Given the description of an element on the screen output the (x, y) to click on. 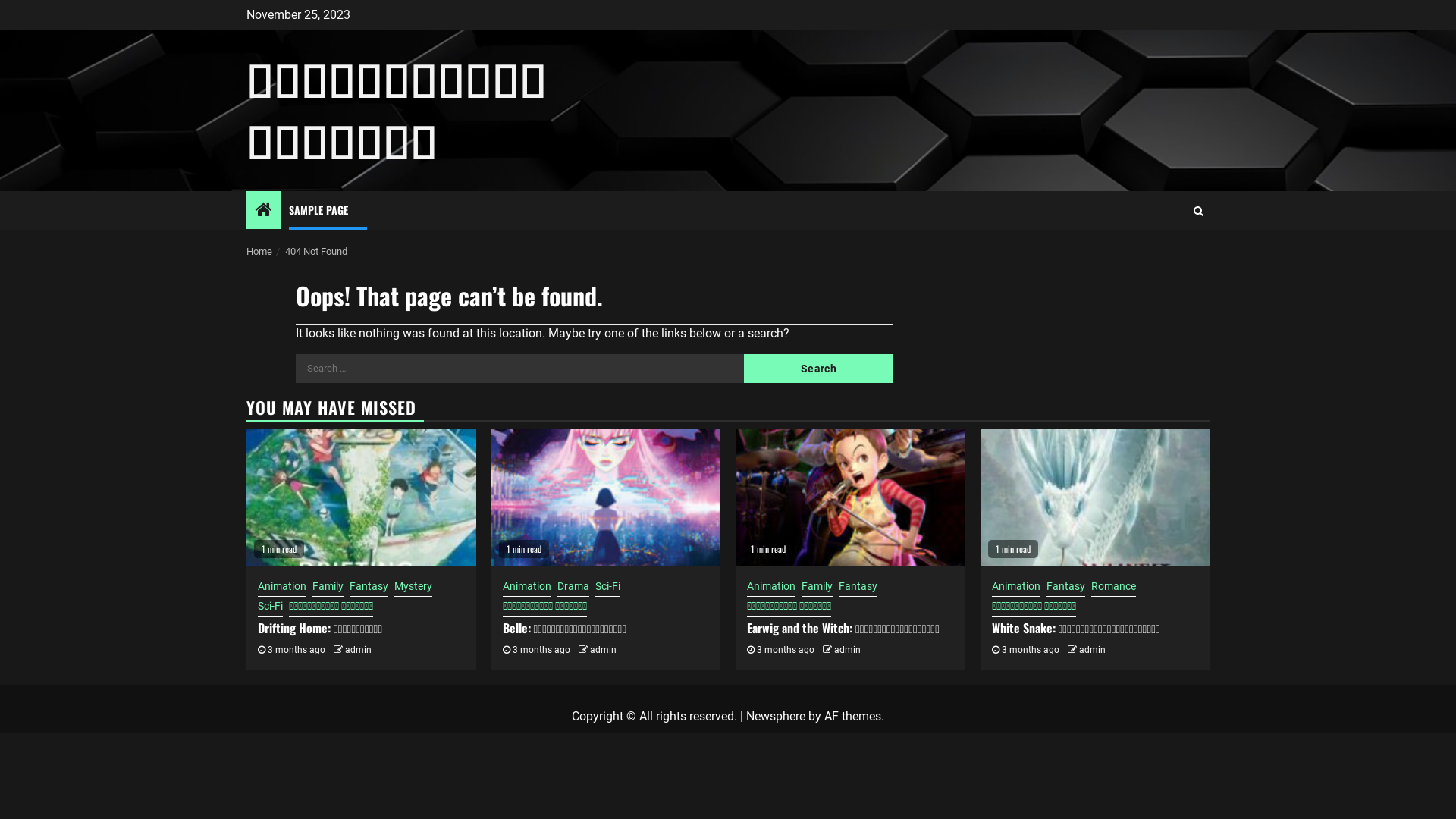
Fantasy Element type: text (368, 587)
Home Element type: text (259, 251)
Animation Element type: text (281, 587)
Search Element type: text (818, 368)
Animation Element type: text (526, 587)
Search Element type: hover (1198, 209)
Sci-Fi Element type: text (606, 587)
Drama Element type: text (572, 587)
SAMPLE PAGE Element type: text (318, 209)
Newsphere Element type: text (775, 716)
Family Element type: text (816, 587)
admin Element type: text (847, 649)
Sci-Fi Element type: text (269, 607)
Search Element type: text (1169, 255)
404 Not Found Element type: text (316, 251)
Romance Element type: text (1112, 587)
Mystery Element type: text (413, 587)
admin Element type: text (358, 649)
admin Element type: text (1091, 649)
admin Element type: text (602, 649)
Animation Element type: text (1015, 587)
Family Element type: text (327, 587)
Fantasy Element type: text (857, 587)
Animation Element type: text (770, 587)
Fantasy Element type: text (1065, 587)
